Given the description of an element on the screen output the (x, y) to click on. 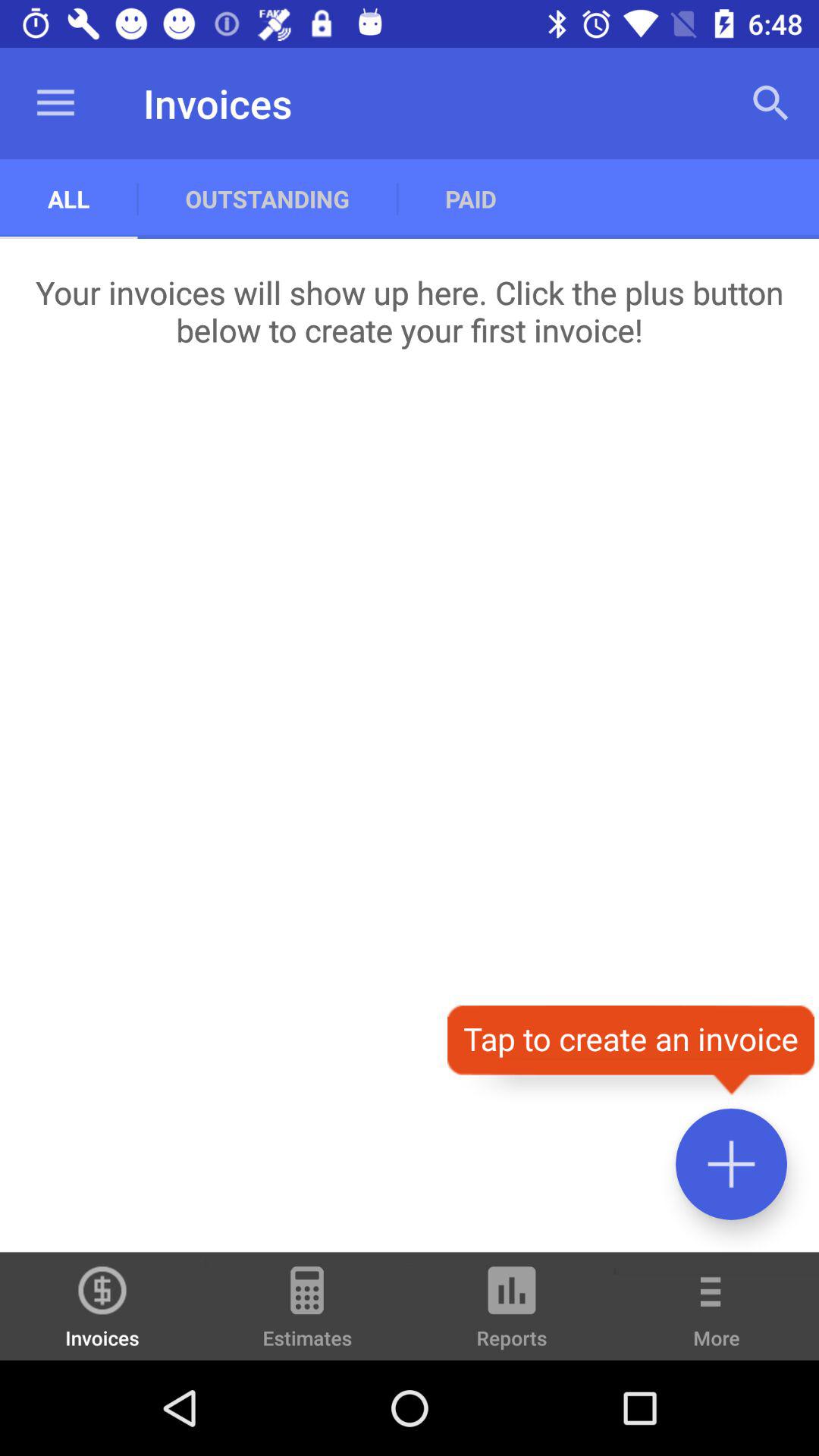
press icon next to the all icon (267, 198)
